Given the description of an element on the screen output the (x, y) to click on. 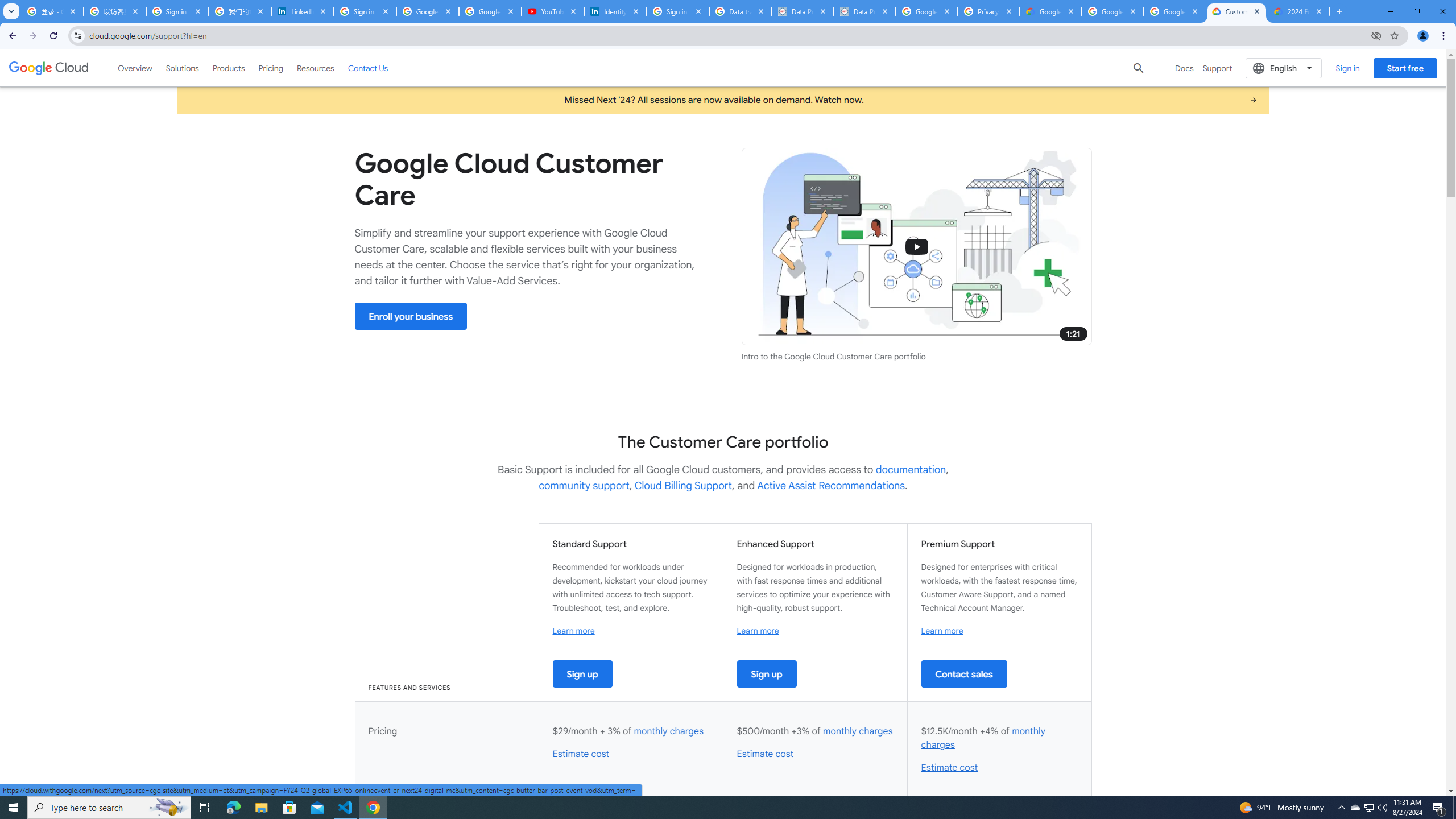
Data Privacy Framework (864, 11)
